Given the description of an element on the screen output the (x, y) to click on. 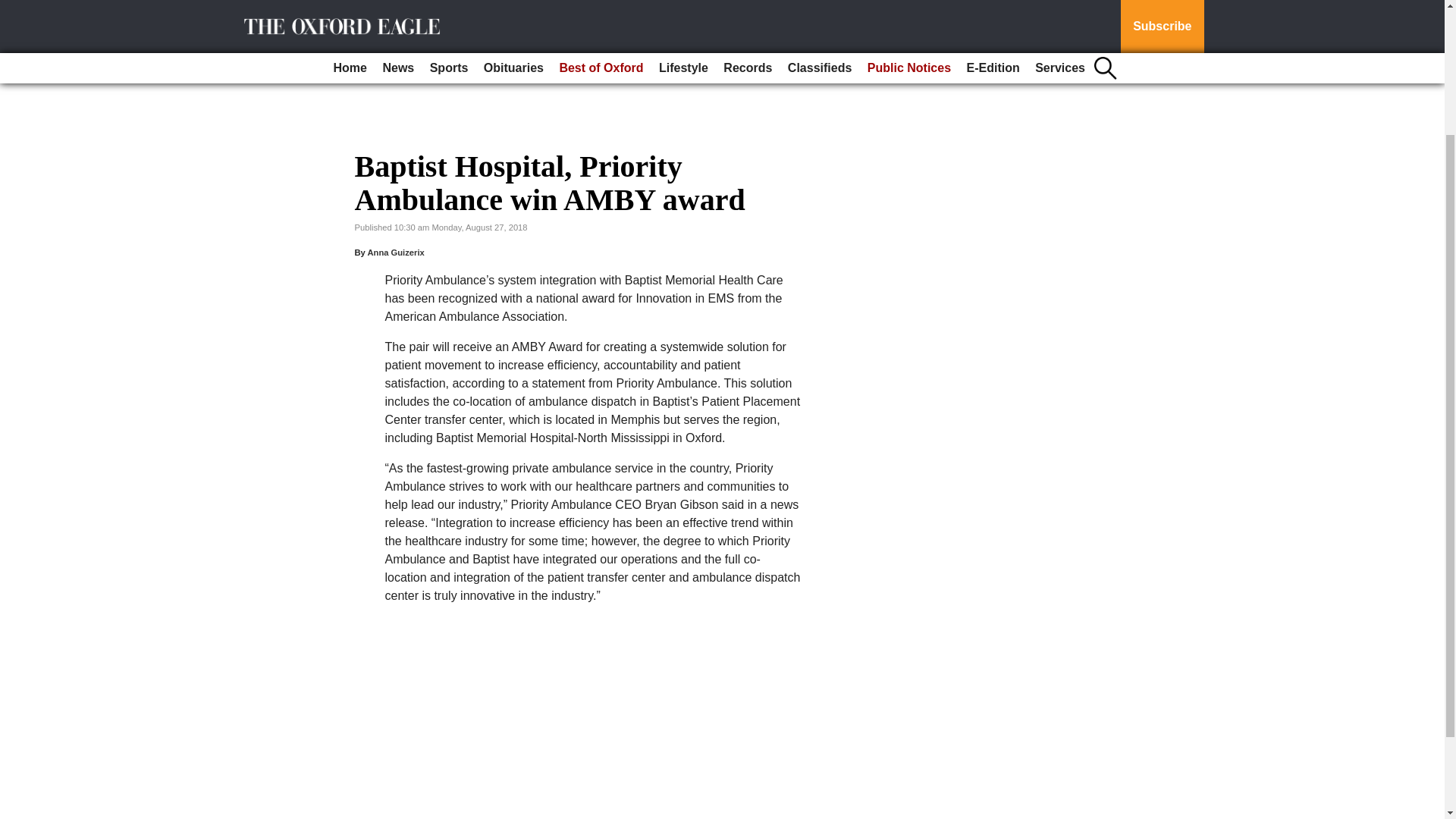
Anna Guizerix (394, 252)
